Given the description of an element on the screen output the (x, y) to click on. 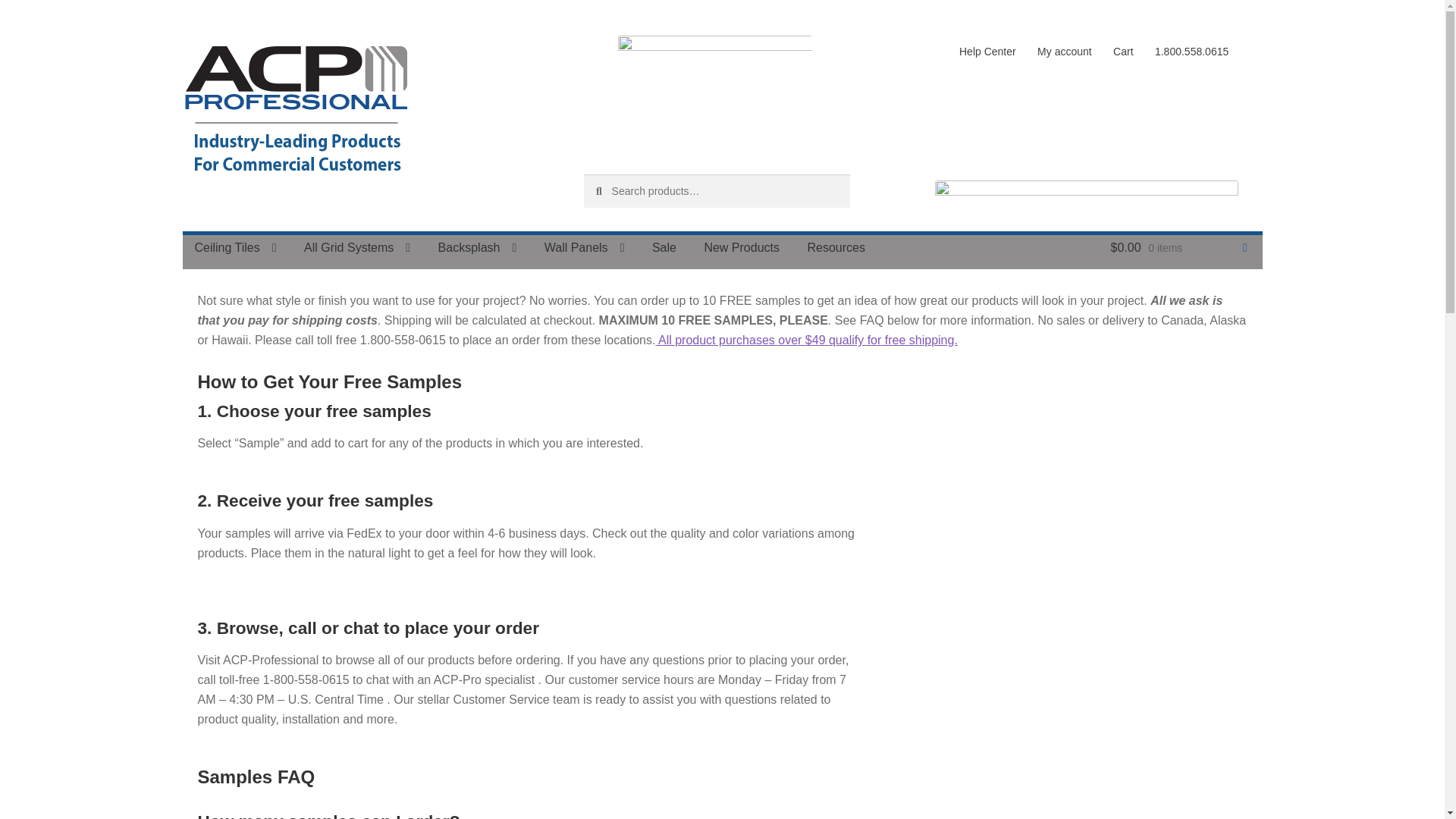
Backsplash (477, 247)
1.800.558.0615 (1192, 51)
New Products (741, 247)
Help Center (987, 51)
All Grid Systems (357, 247)
Ceiling Tiles (235, 247)
Resources (835, 247)
Cart (1122, 51)
View your shopping cart (1177, 247)
Wall Panels (584, 247)
My account (1063, 51)
Sale (664, 247)
